Given the description of an element on the screen output the (x, y) to click on. 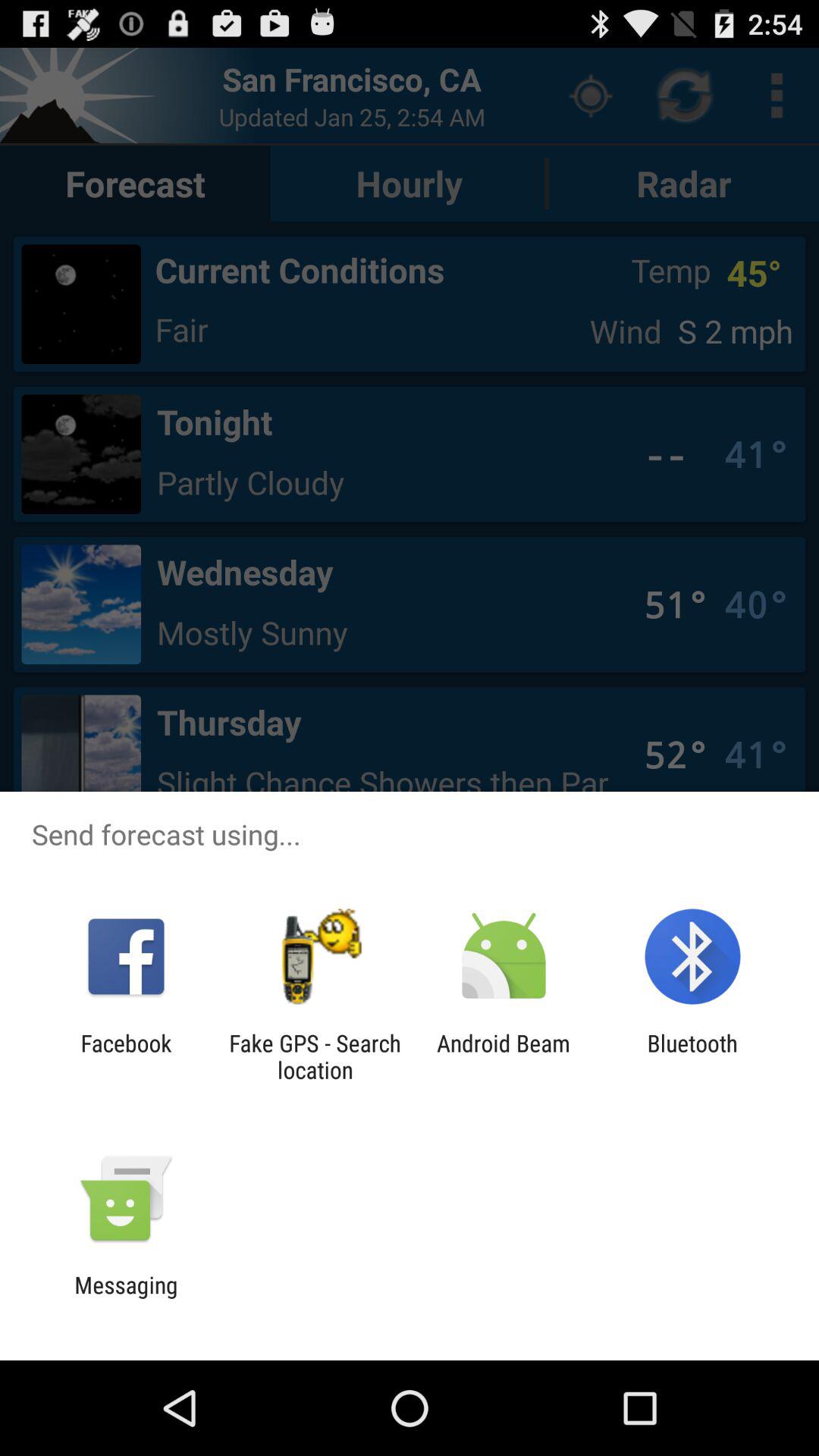
open android beam (503, 1056)
